Given the description of an element on the screen output the (x, y) to click on. 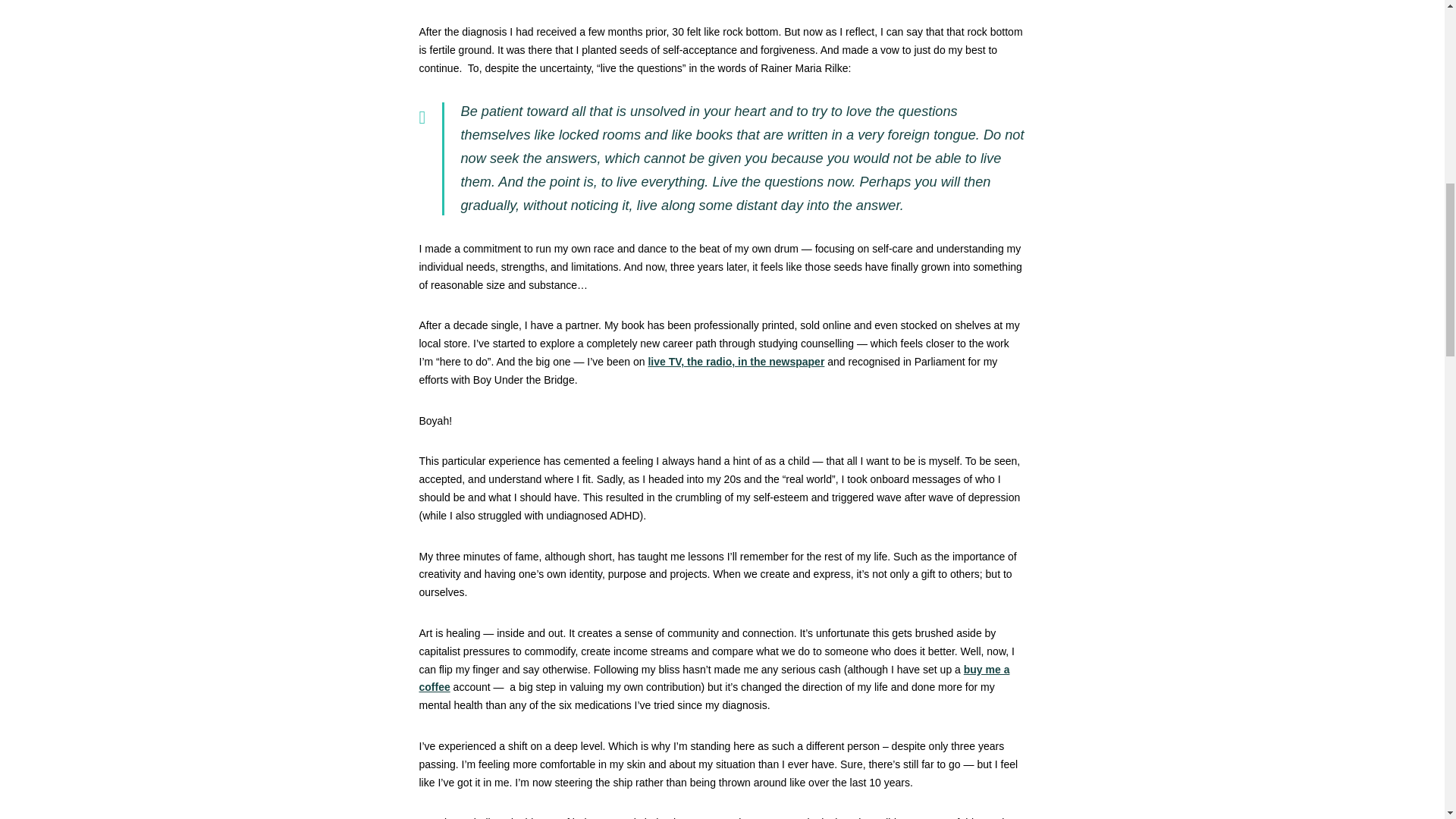
live TV, the radio, in the newspaper (735, 361)
buy me a coffee (714, 678)
